Given the description of an element on the screen output the (x, y) to click on. 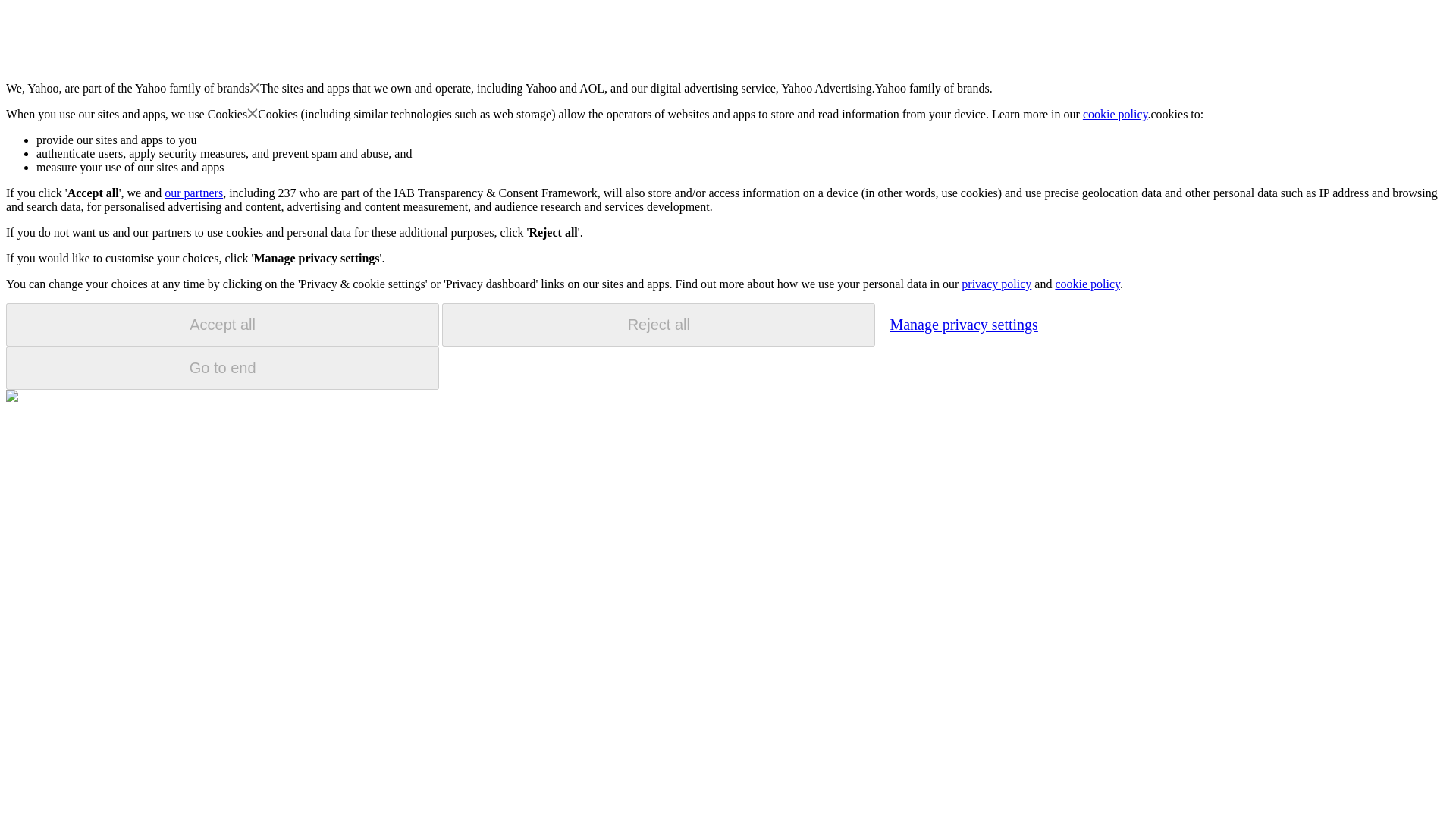
Accept all (222, 324)
Manage privacy settings (963, 323)
Reject all (658, 324)
Go to end (222, 367)
our partners (193, 192)
privacy policy (995, 283)
cookie policy (1086, 283)
cookie policy (1115, 113)
